Given the description of an element on the screen output the (x, y) to click on. 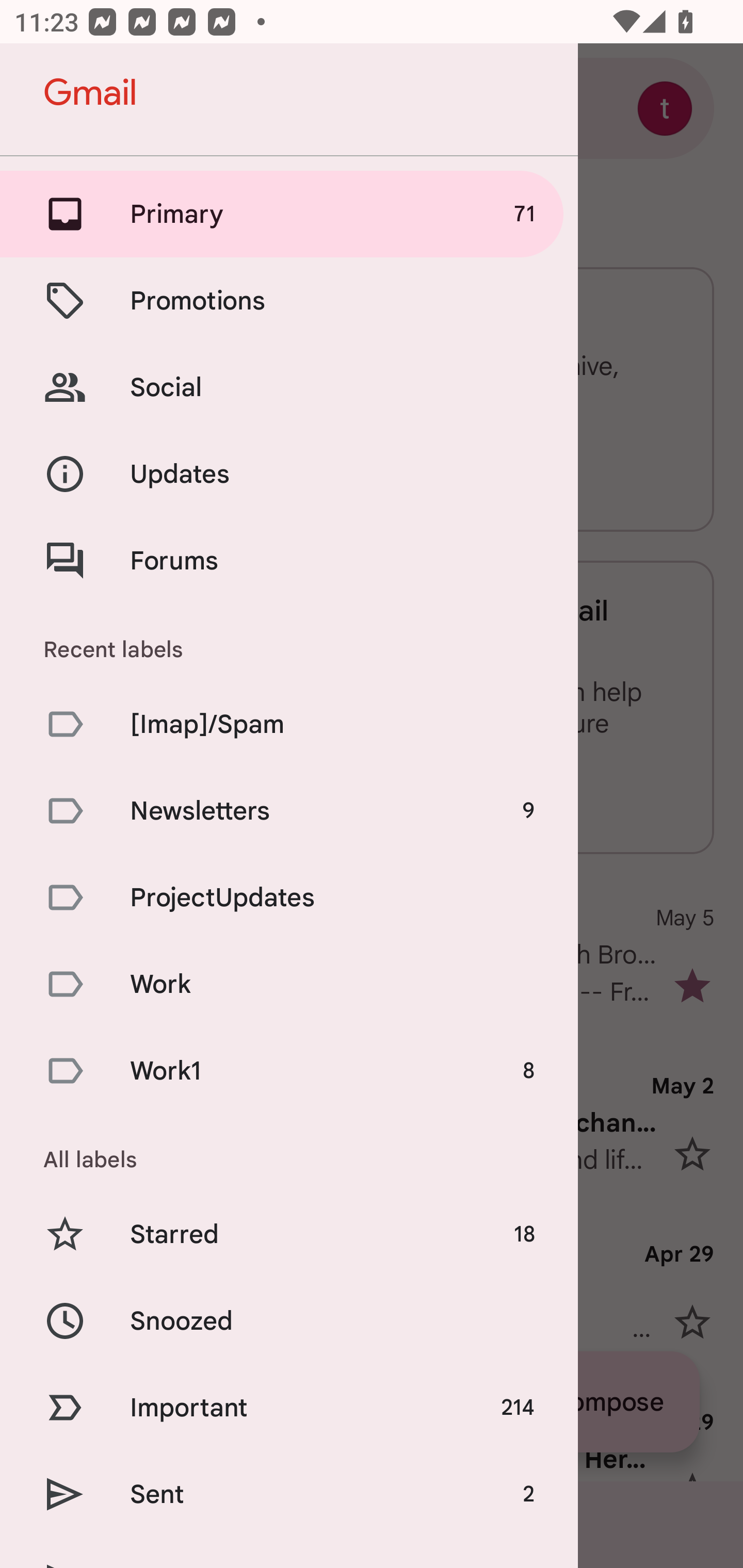
Primary 71 (289, 213)
Promotions (289, 300)
Social (289, 387)
Updates (289, 474)
Forums (289, 560)
[Imap]/Spam (289, 723)
Newsletters 9 (289, 810)
ProjectUpdates (289, 897)
Work (289, 983)
Work1 8 (289, 1070)
Starred 18 (289, 1234)
Snoozed (289, 1320)
Important 214 (289, 1407)
Sent 2 (289, 1494)
